Given the description of an element on the screen output the (x, y) to click on. 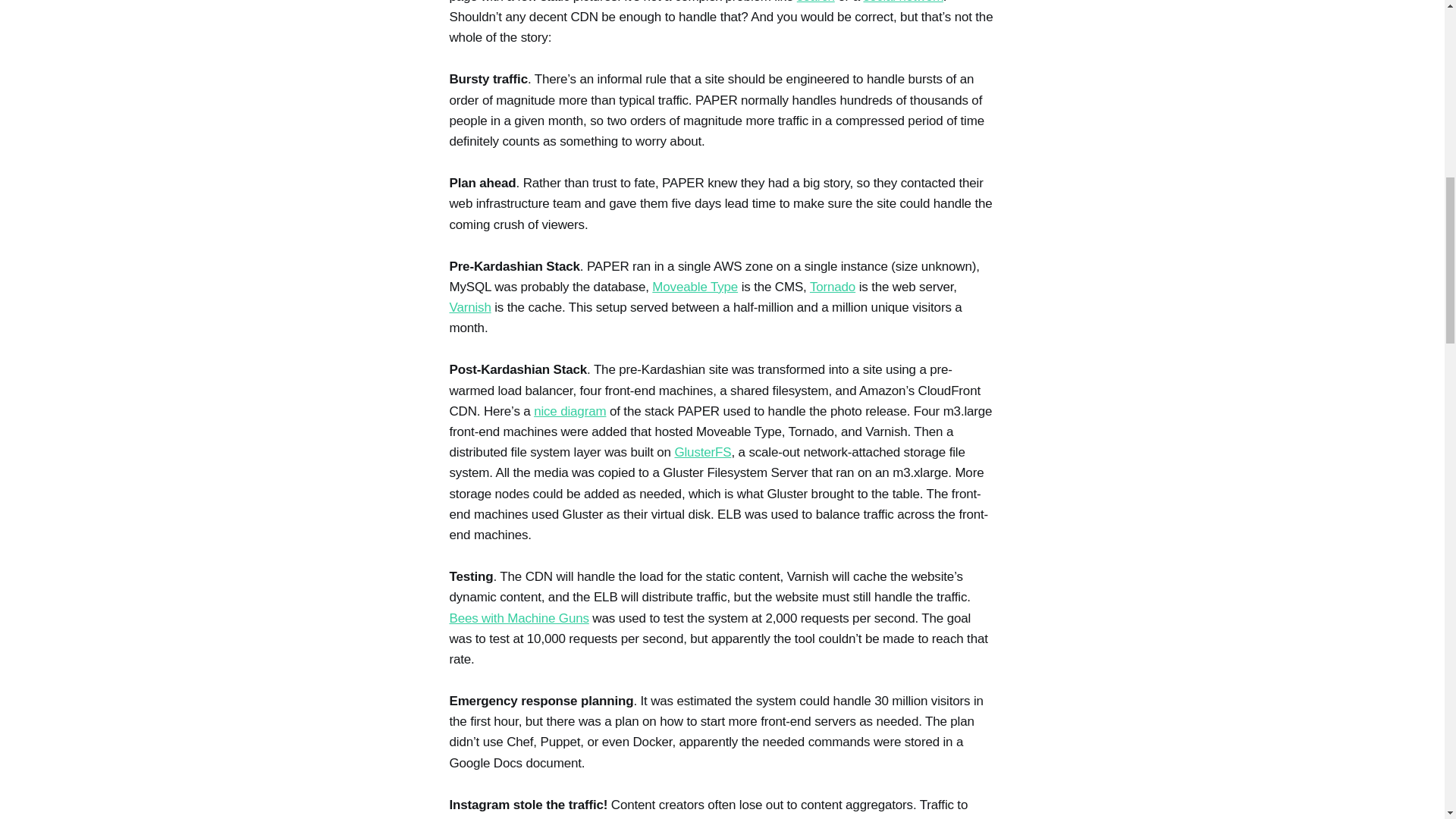
Varnish (469, 307)
nice diagram (569, 411)
GlusterFS (702, 452)
Bees with Machine Guns (518, 617)
Tornado (832, 287)
search (815, 2)
Moveable Type (695, 287)
social network (902, 2)
